Given the description of an element on the screen output the (x, y) to click on. 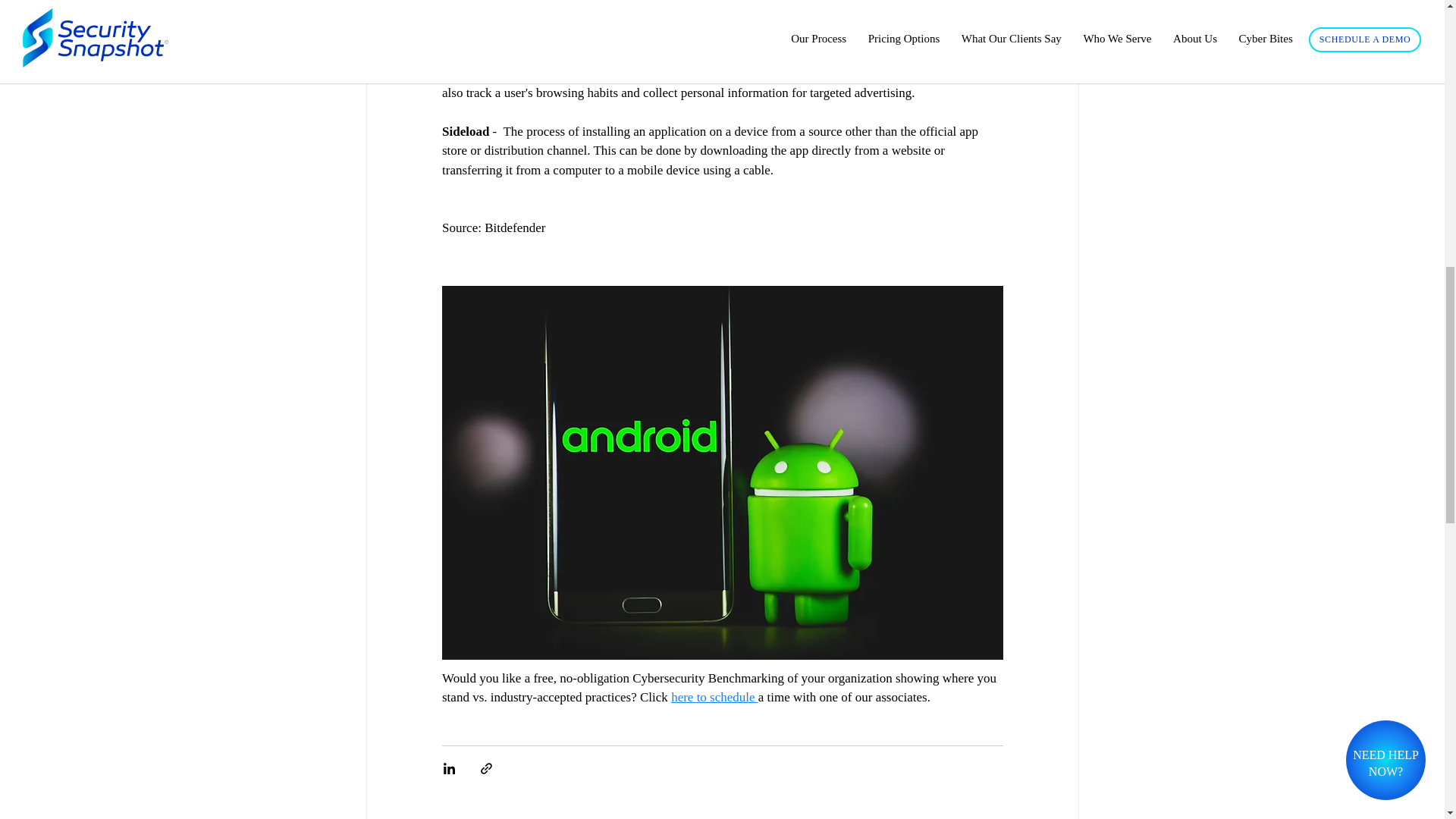
here to schedule  (714, 697)
